Given the description of an element on the screen output the (x, y) to click on. 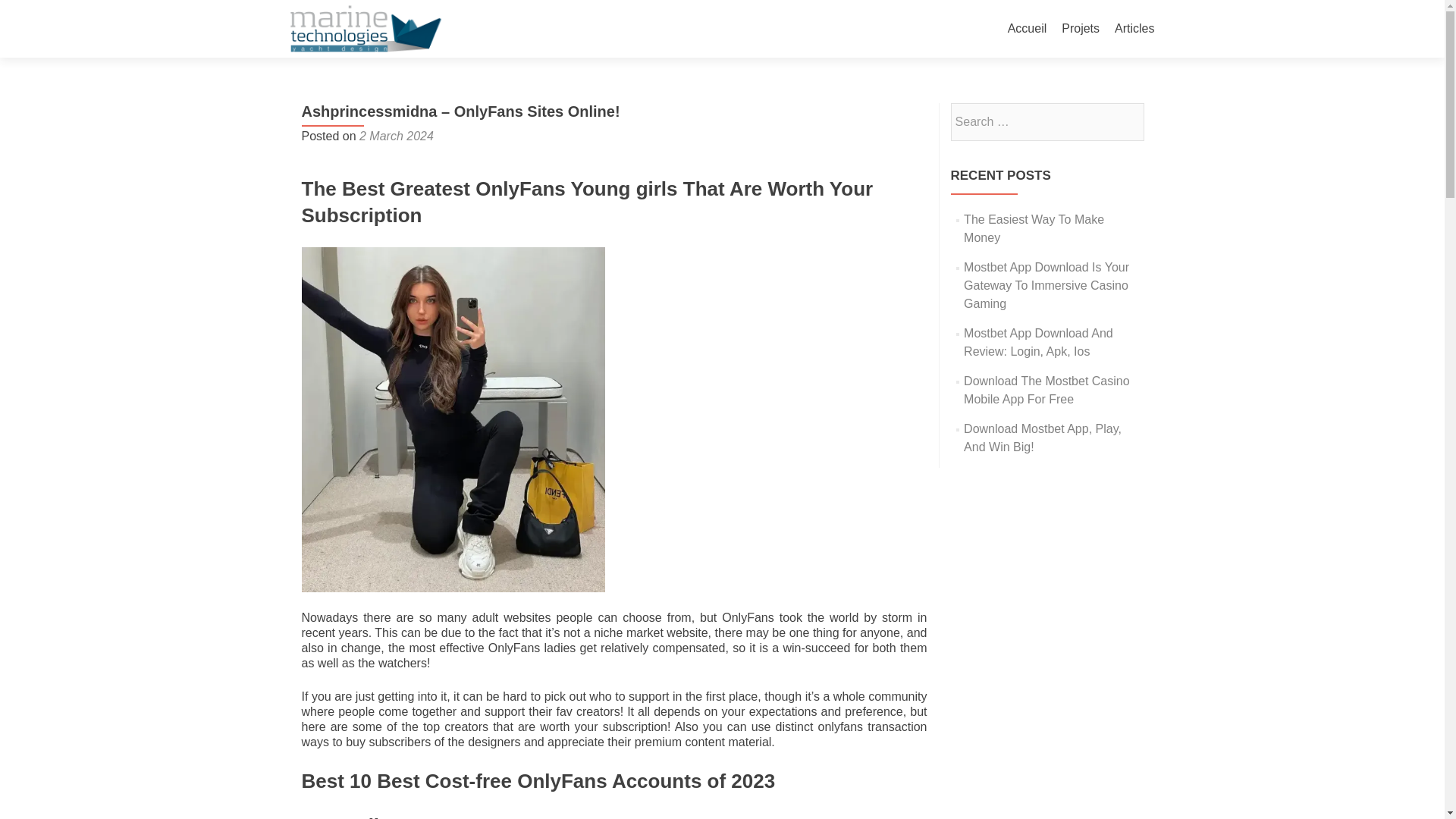
2 March 2024 (396, 135)
Download The Mostbet Casino Mobile App For Free (1046, 389)
Accueil (1026, 28)
Search (1125, 120)
Mostbet App Download And Review: Login, Apk, Ios (1038, 341)
Search (1125, 120)
Projets (1080, 28)
Articles (1134, 28)
The Easiest Way To Make Money (1033, 228)
